Given the description of an element on the screen output the (x, y) to click on. 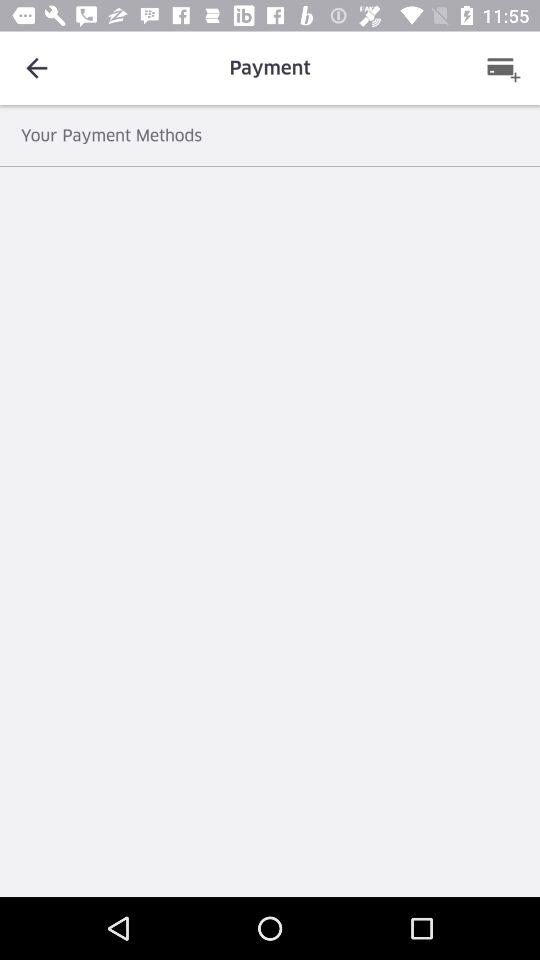
choose the item above the your payment methods (503, 67)
